Given the description of an element on the screen output the (x, y) to click on. 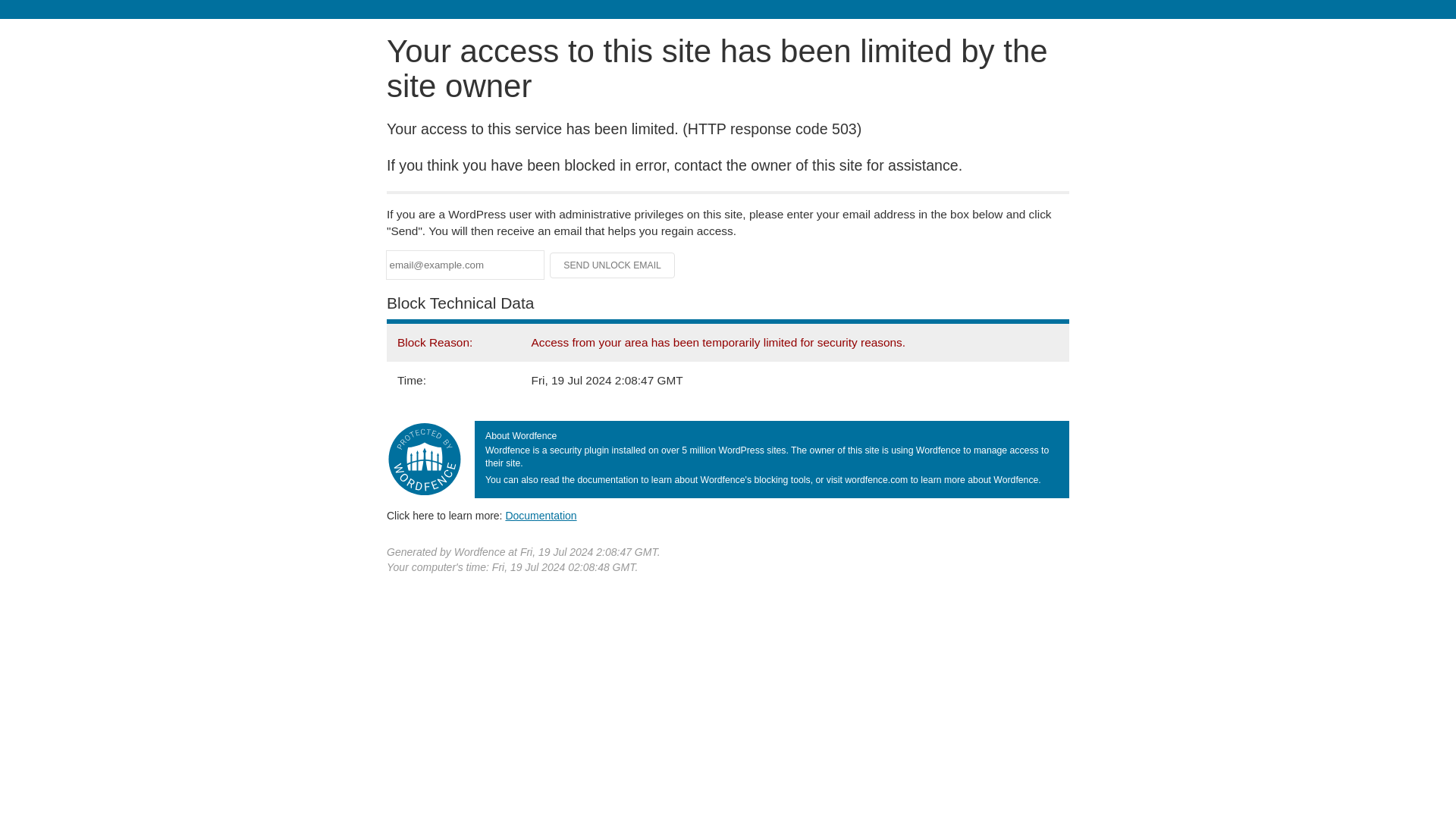
Send Unlock Email (612, 265)
Send Unlock Email (612, 265)
Documentation (540, 515)
